Given the description of an element on the screen output the (x, y) to click on. 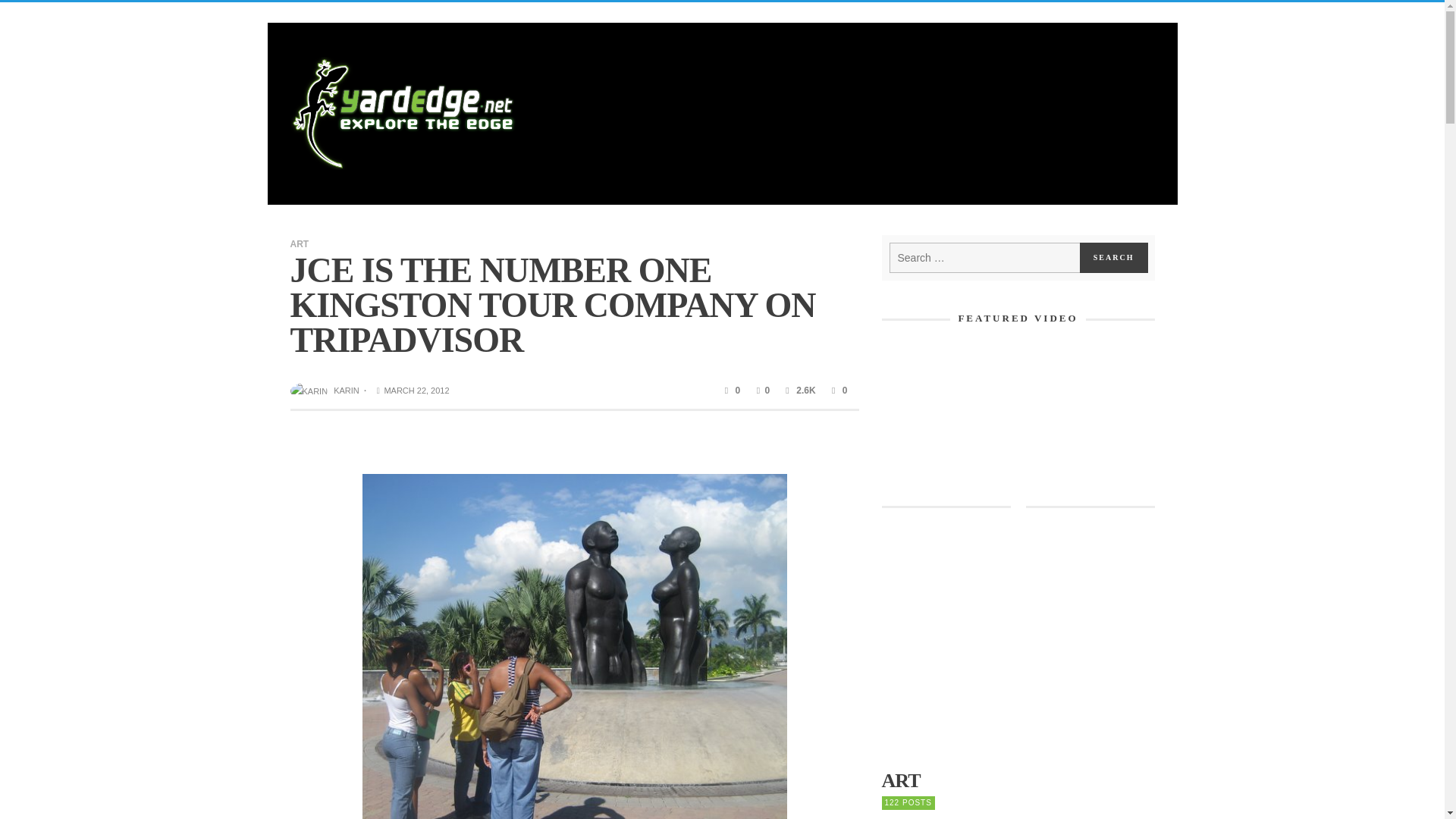
0 (730, 389)
Search (1114, 257)
MARCH 22, 2012 (410, 389)
0 (837, 389)
0 (761, 389)
ART (298, 243)
View posts in Art (1017, 781)
Search (1114, 257)
Advertisement (1016, 635)
